Given the description of an element on the screen output the (x, y) to click on. 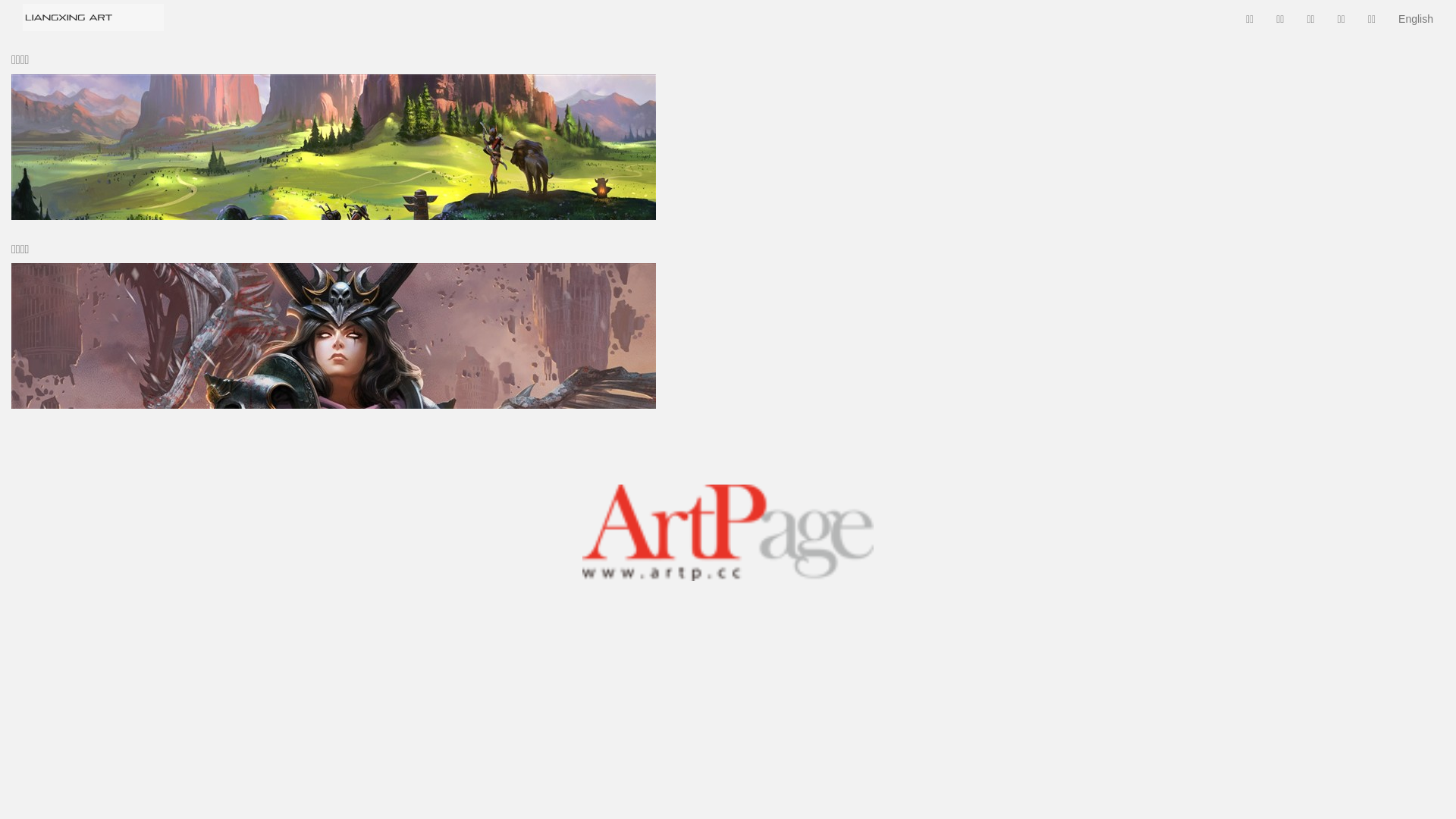
English Element type: text (1415, 18)
